Given the description of an element on the screen output the (x, y) to click on. 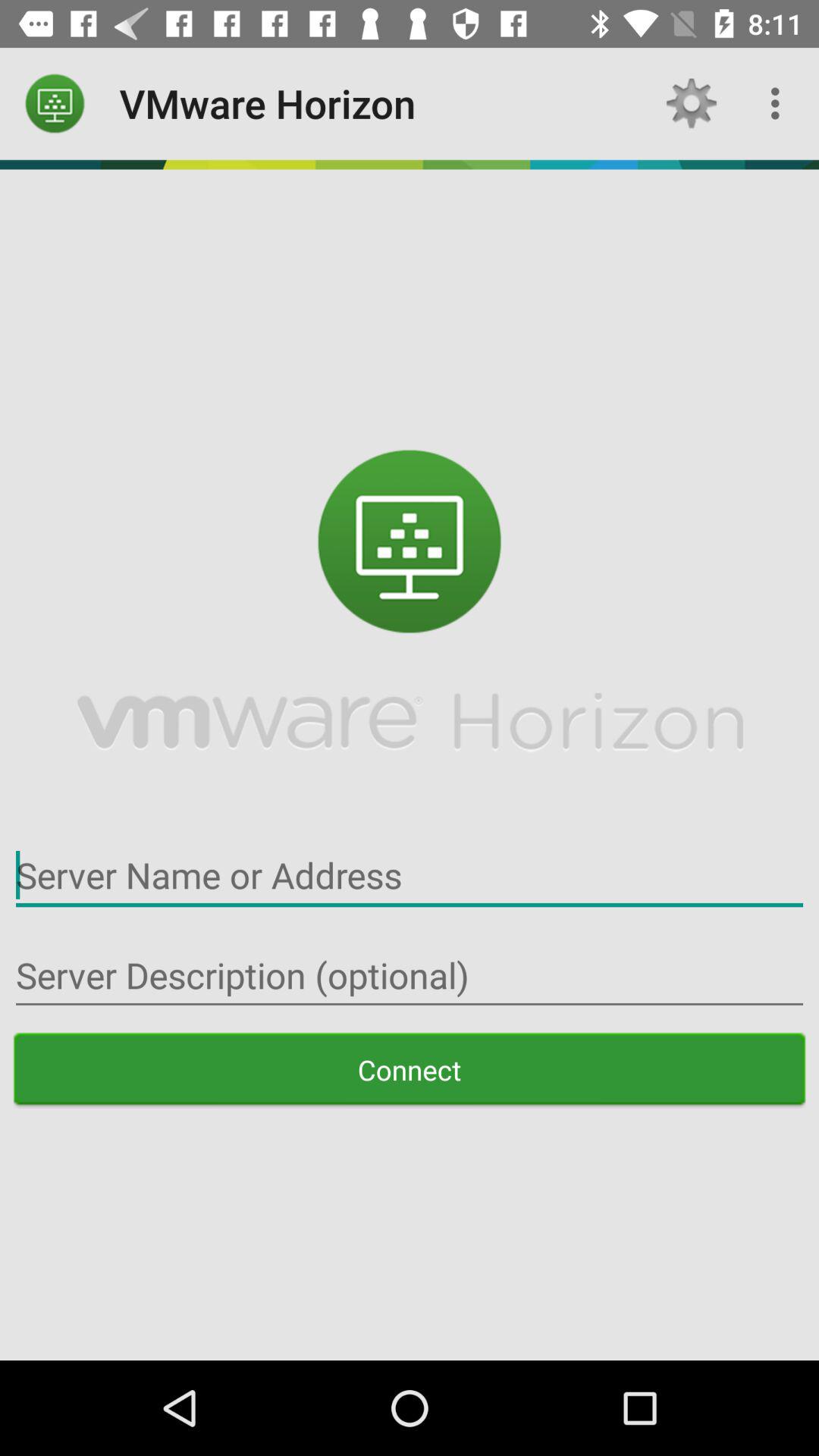
enter server name or address (409, 875)
